Given the description of an element on the screen output the (x, y) to click on. 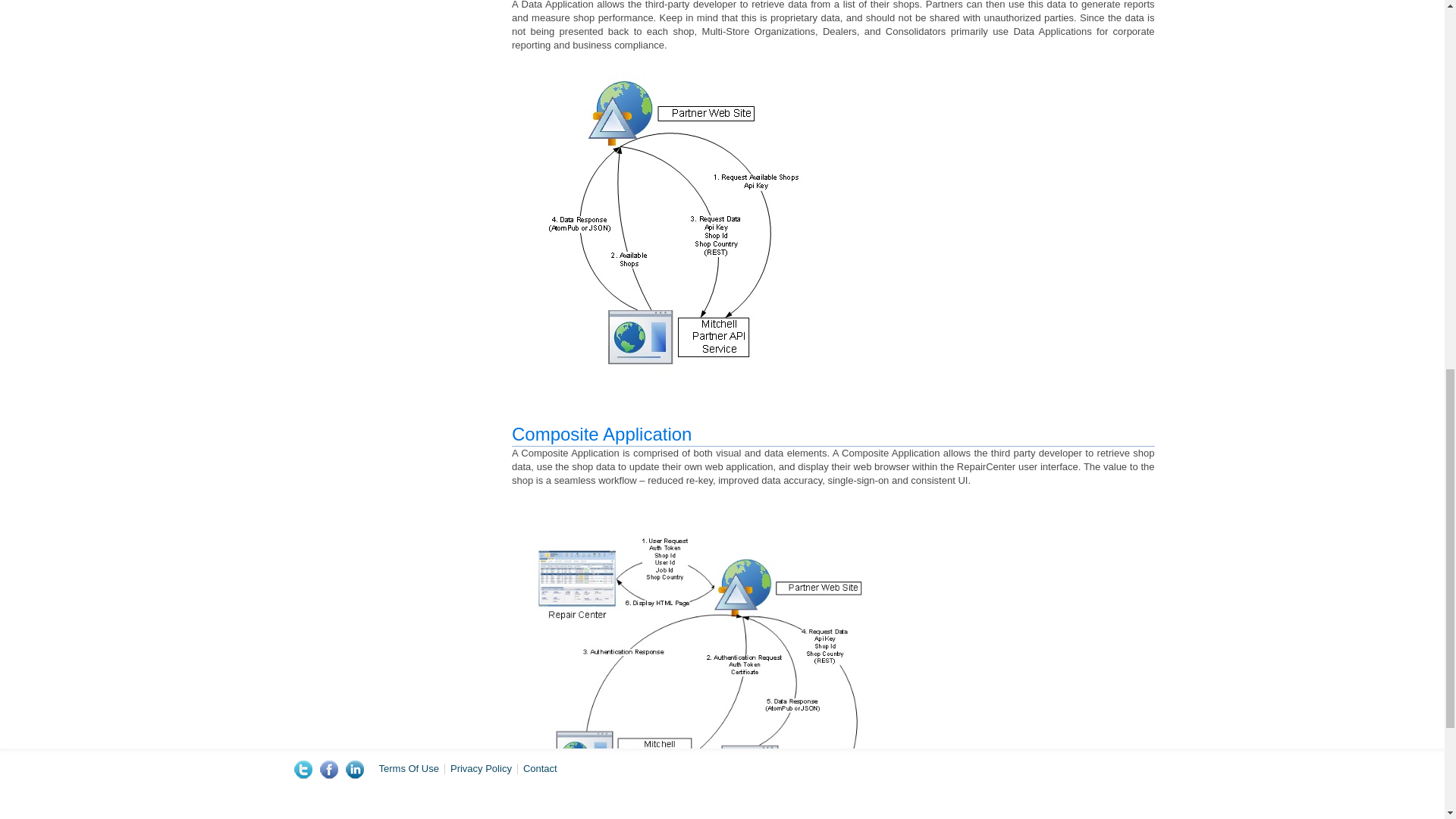
Composite Application (601, 434)
